Given the description of an element on the screen output the (x, y) to click on. 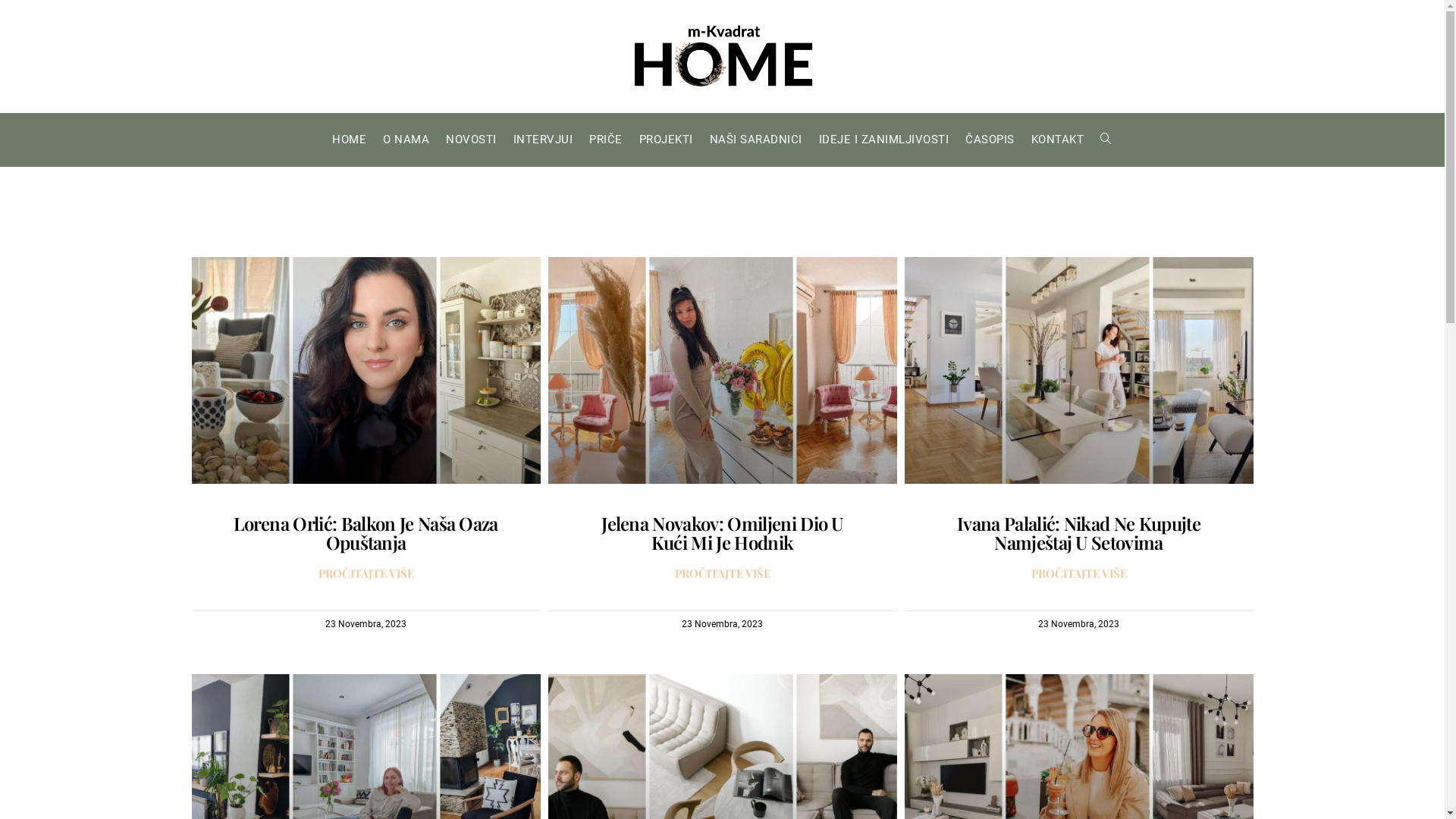
NOVOSTI Element type: text (471, 139)
HOME Element type: text (348, 139)
IDEJE I ZANIMLJIVOSTI Element type: text (883, 139)
KONTAKT Element type: text (1057, 139)
PROJEKTI Element type: text (665, 139)
O NAMA Element type: text (405, 139)
INTERVJUI Element type: text (543, 139)
